Given the description of an element on the screen output the (x, y) to click on. 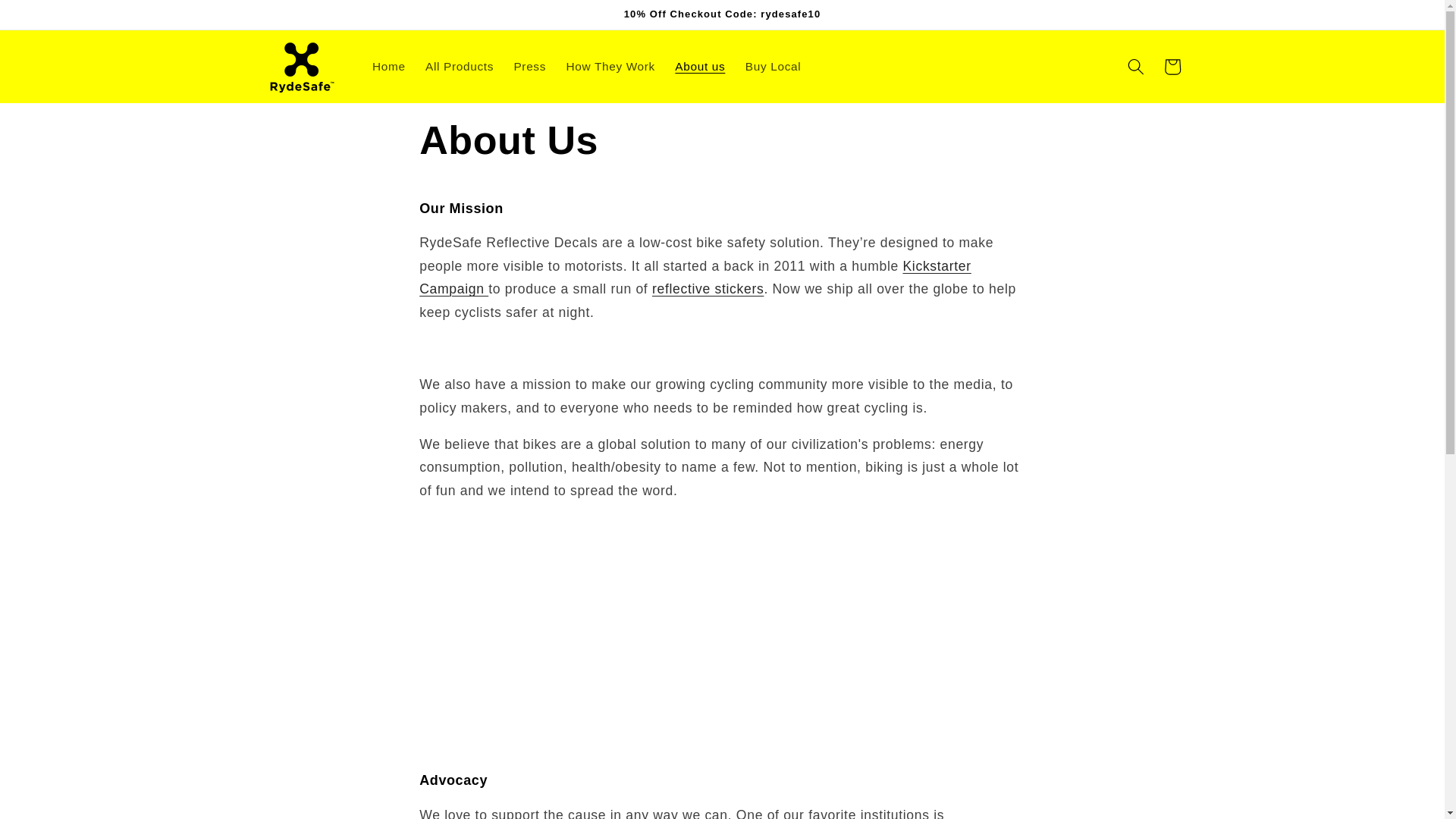
Cart (1172, 66)
Press (529, 66)
reflective stickers (707, 288)
reflective stickers (707, 288)
RydeSafe Reflective Safety Stickers Kickstarter Campaign (695, 277)
About us (700, 66)
All Products (458, 66)
How They Work (610, 66)
Skip to content (50, 19)
Buy Local (772, 66)
Kickstarter Campaign (695, 277)
Home (388, 66)
